Given the description of an element on the screen output the (x, y) to click on. 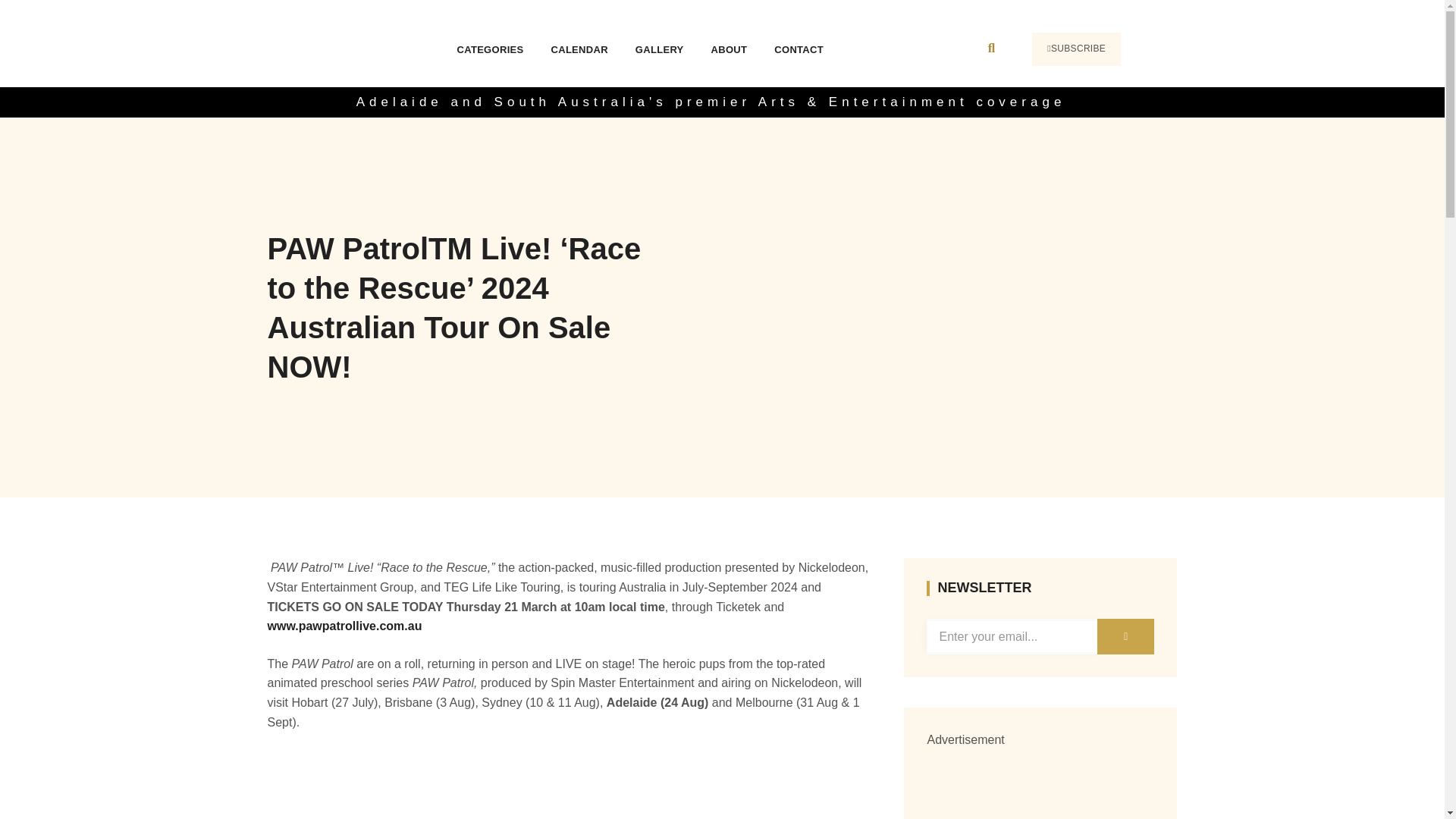
CONTACT (799, 48)
CATEGORIES (489, 48)
CALENDAR (578, 48)
www.pawpatrollive.com.au (344, 625)
ABOUT (729, 48)
SUBSCRIBE (1076, 49)
GALLERY (659, 48)
